Given the description of an element on the screen output the (x, y) to click on. 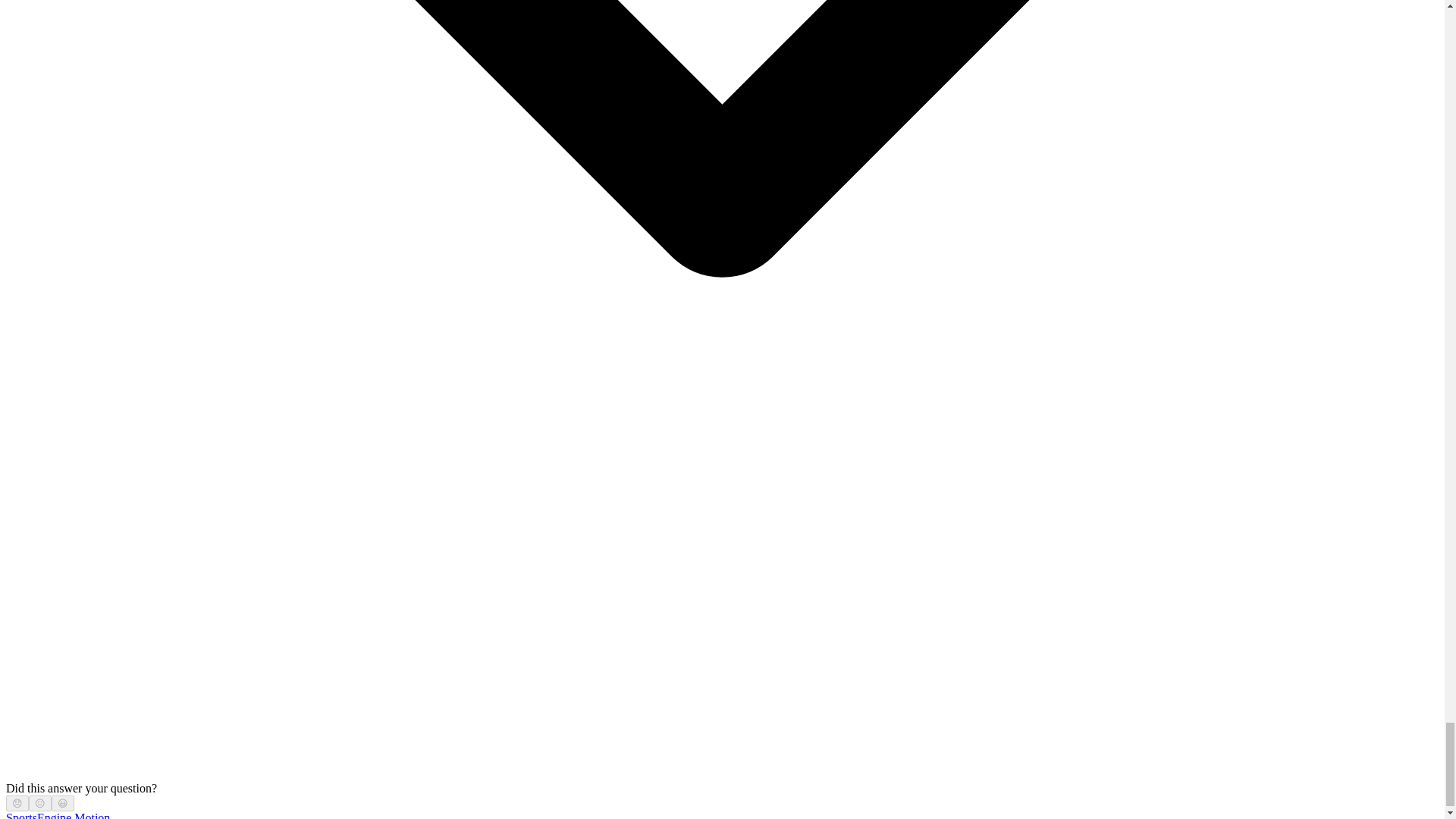
Disappointed (17, 803)
Smiley (63, 803)
Neutral (39, 803)
